Given the description of an element on the screen output the (x, y) to click on. 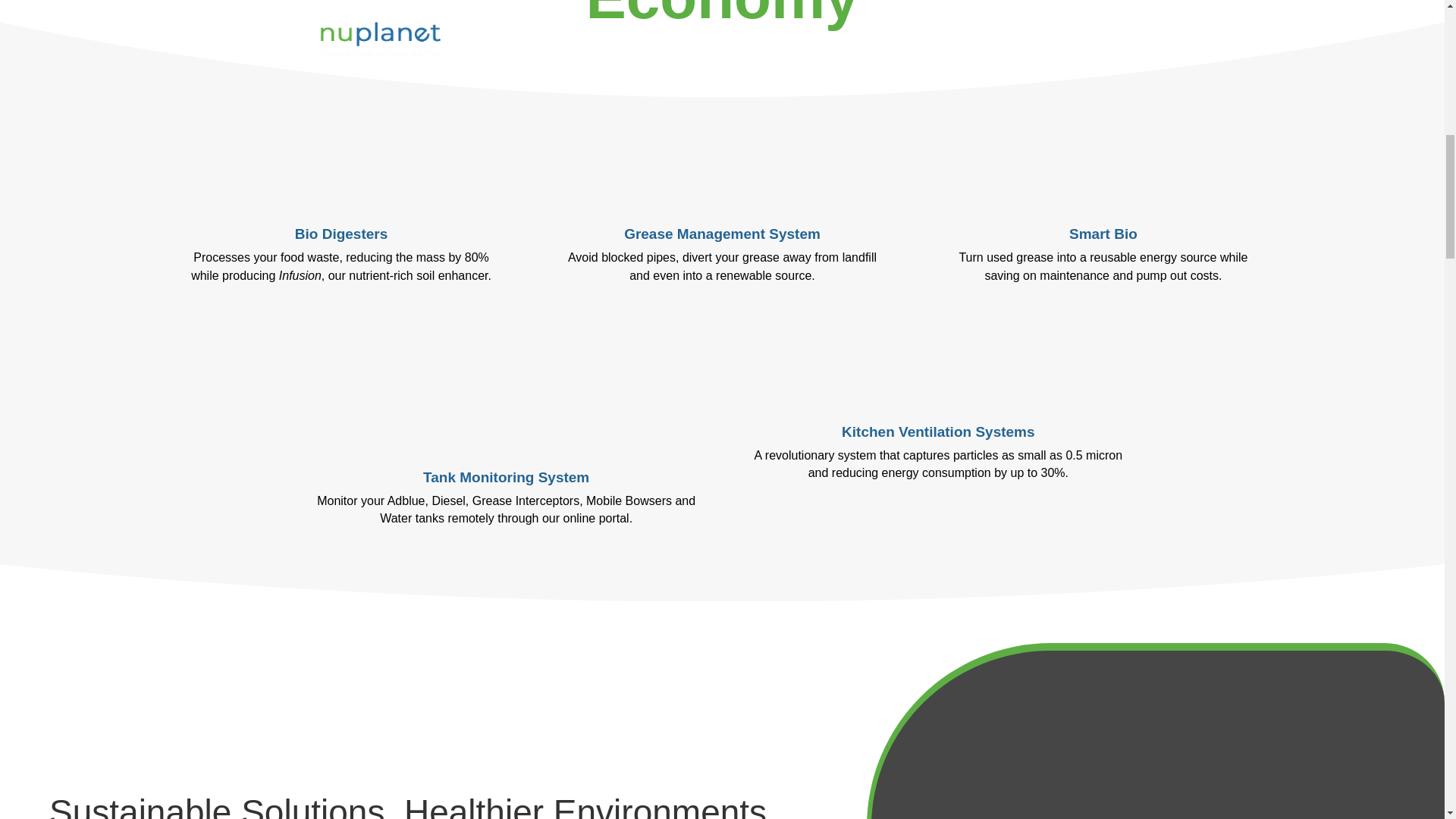
Tank Monitoring System (506, 477)
Kitchen Ventilation Systems (937, 431)
Smart Bio (1102, 233)
Bio Digesters (341, 233)
NP-Logo-new (106, 737)
Grease Management System (722, 233)
